Given the description of an element on the screen output the (x, y) to click on. 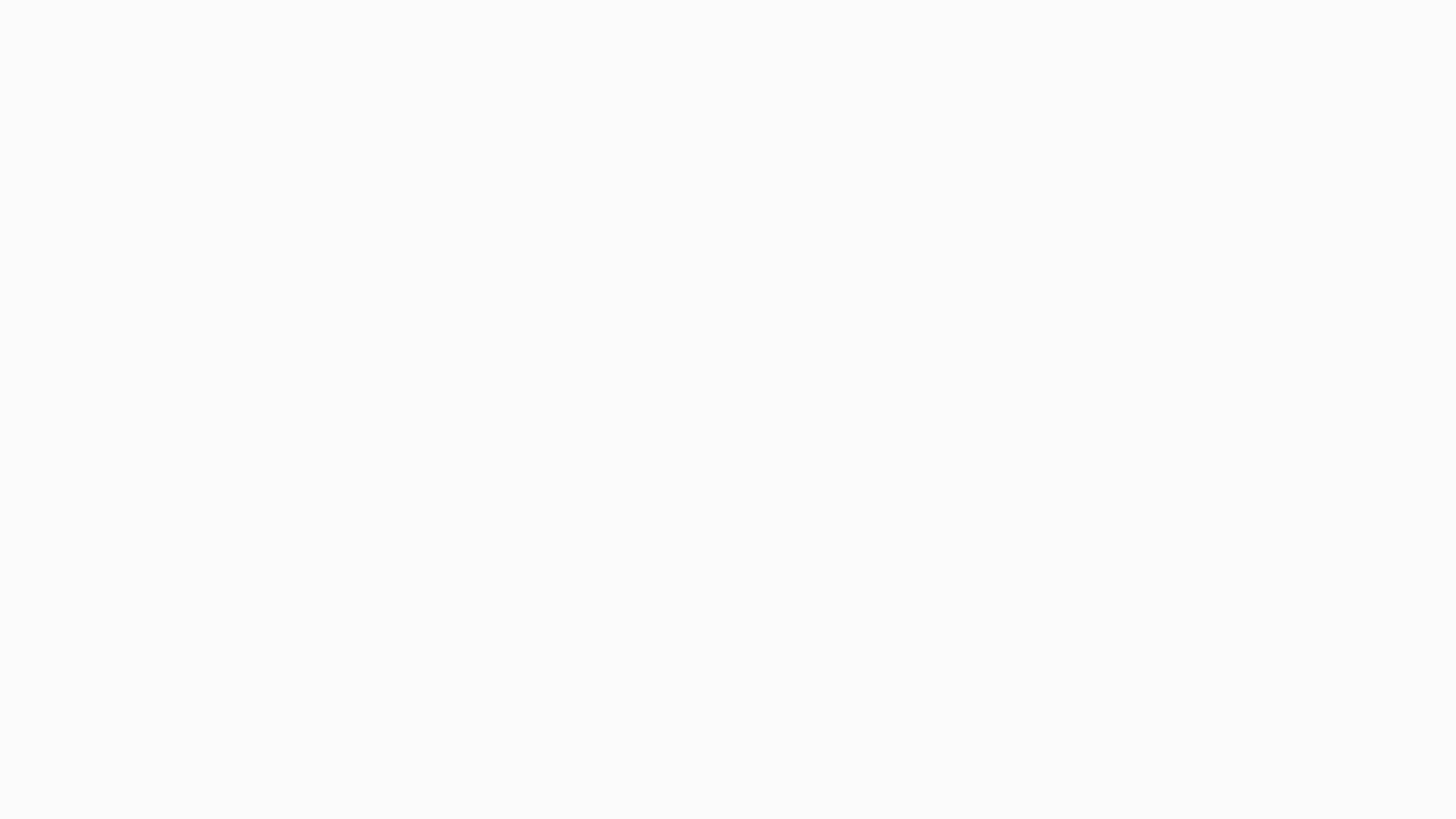
cerca qui... Element type: text (473, 270)
